Given the description of an element on the screen output the (x, y) to click on. 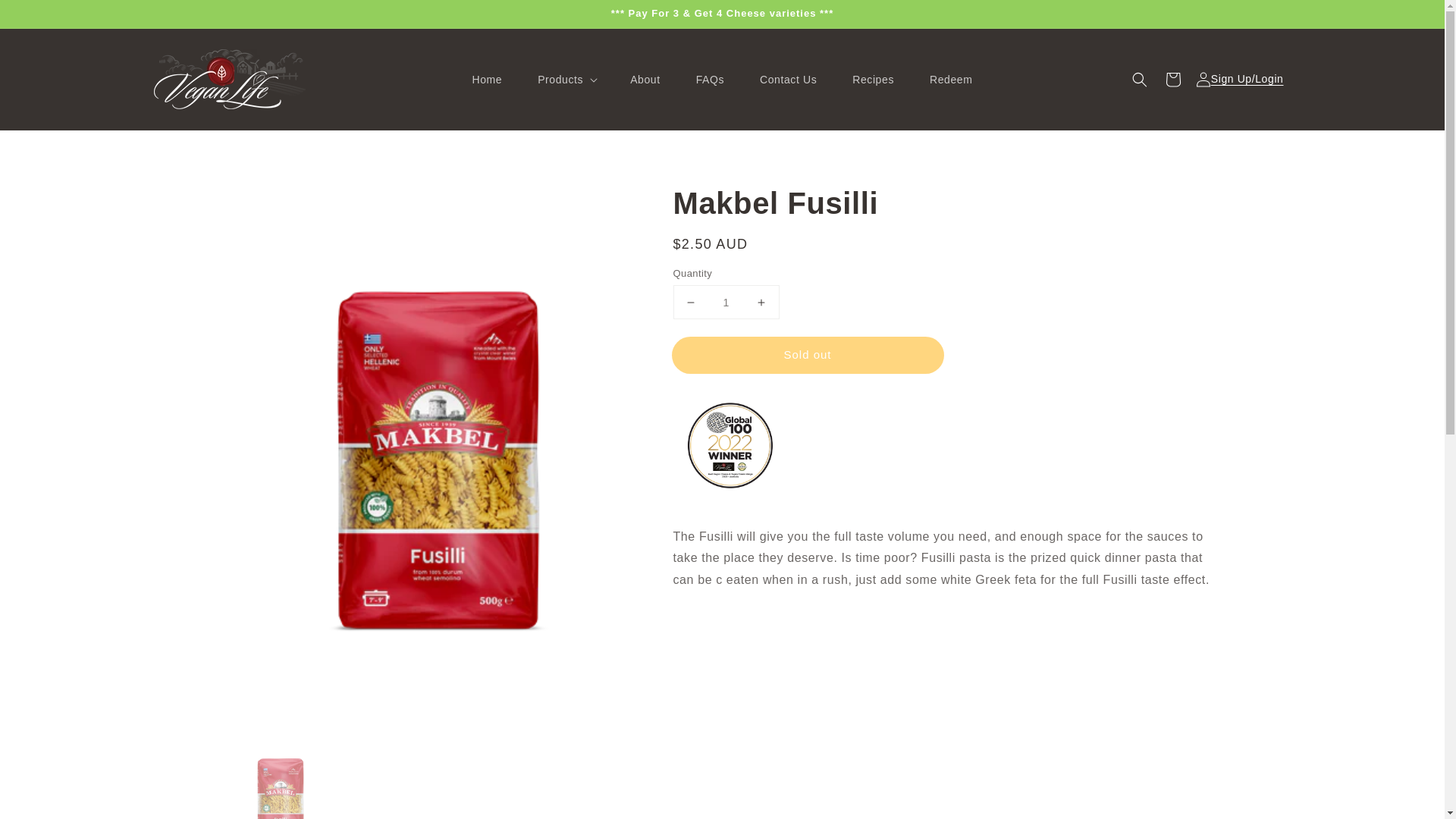
Cart (1172, 79)
Redeem (950, 79)
Increase quantity for Makbel Fusilli (761, 301)
Recipes (872, 79)
FAQs (710, 79)
About (645, 79)
Skip to content (45, 16)
Skip to product information (438, 199)
Contact Us (788, 79)
1 (725, 301)
